Given the description of an element on the screen output the (x, y) to click on. 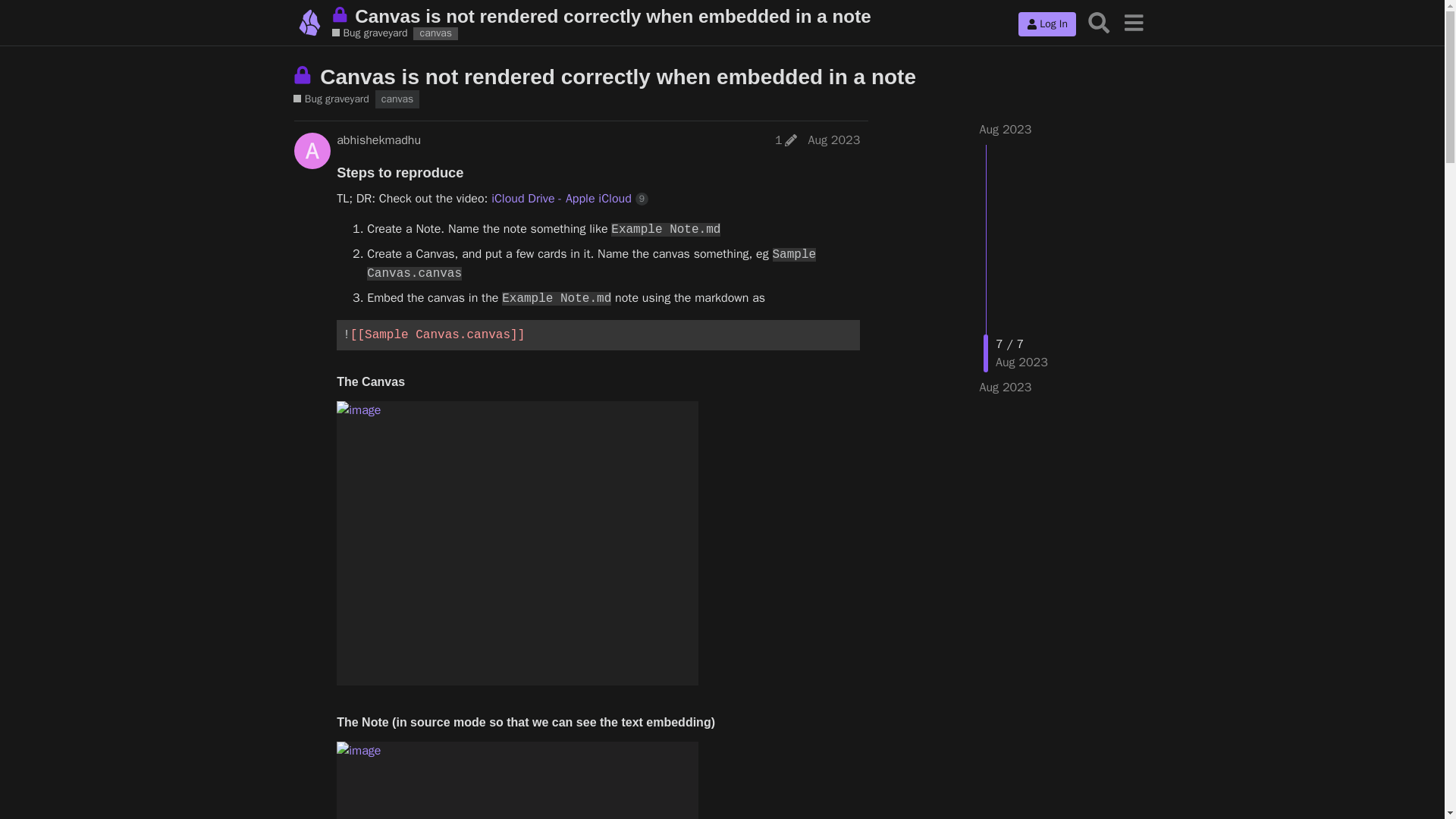
Bug graveyard (331, 99)
iCloud Drive - Apple iCloud 9 (569, 198)
This topic is closed; it no longer accepts new replies (304, 75)
Jump to the first post (1005, 129)
abhishekmadhu (378, 140)
canvas (397, 99)
canvas (435, 32)
Jump to the last post (1005, 387)
Aug 2023 (834, 140)
Bug graveyard (369, 33)
Aug 2023 (1005, 387)
Log In (1046, 24)
Canvas is not rendered correctly when embedded in a note (617, 76)
image (517, 780)
Canvas is not rendered correctly when embedded in a note (674, 15)
